Given the description of an element on the screen output the (x, y) to click on. 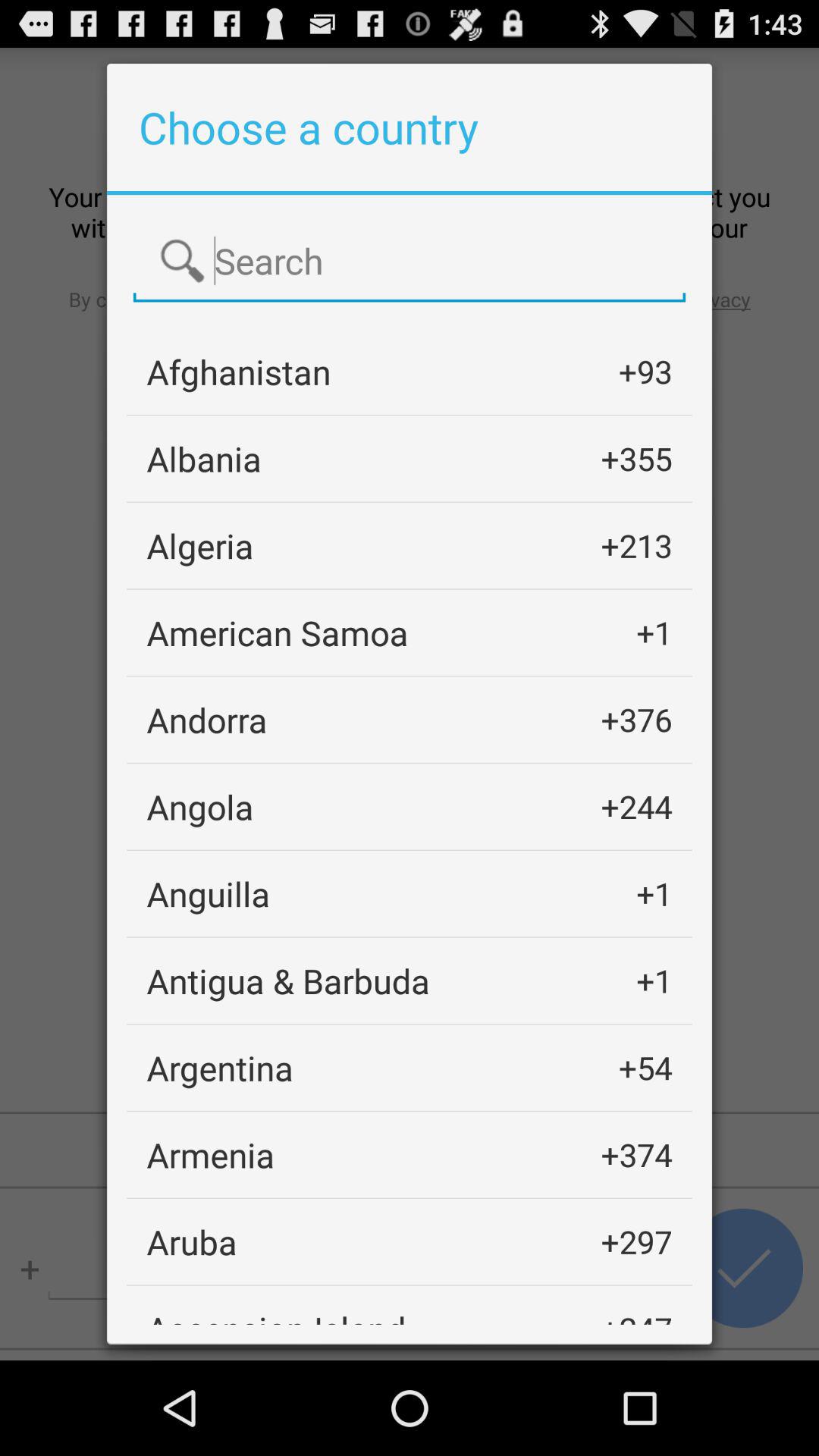
jump to the +213 app (636, 545)
